Given the description of an element on the screen output the (x, y) to click on. 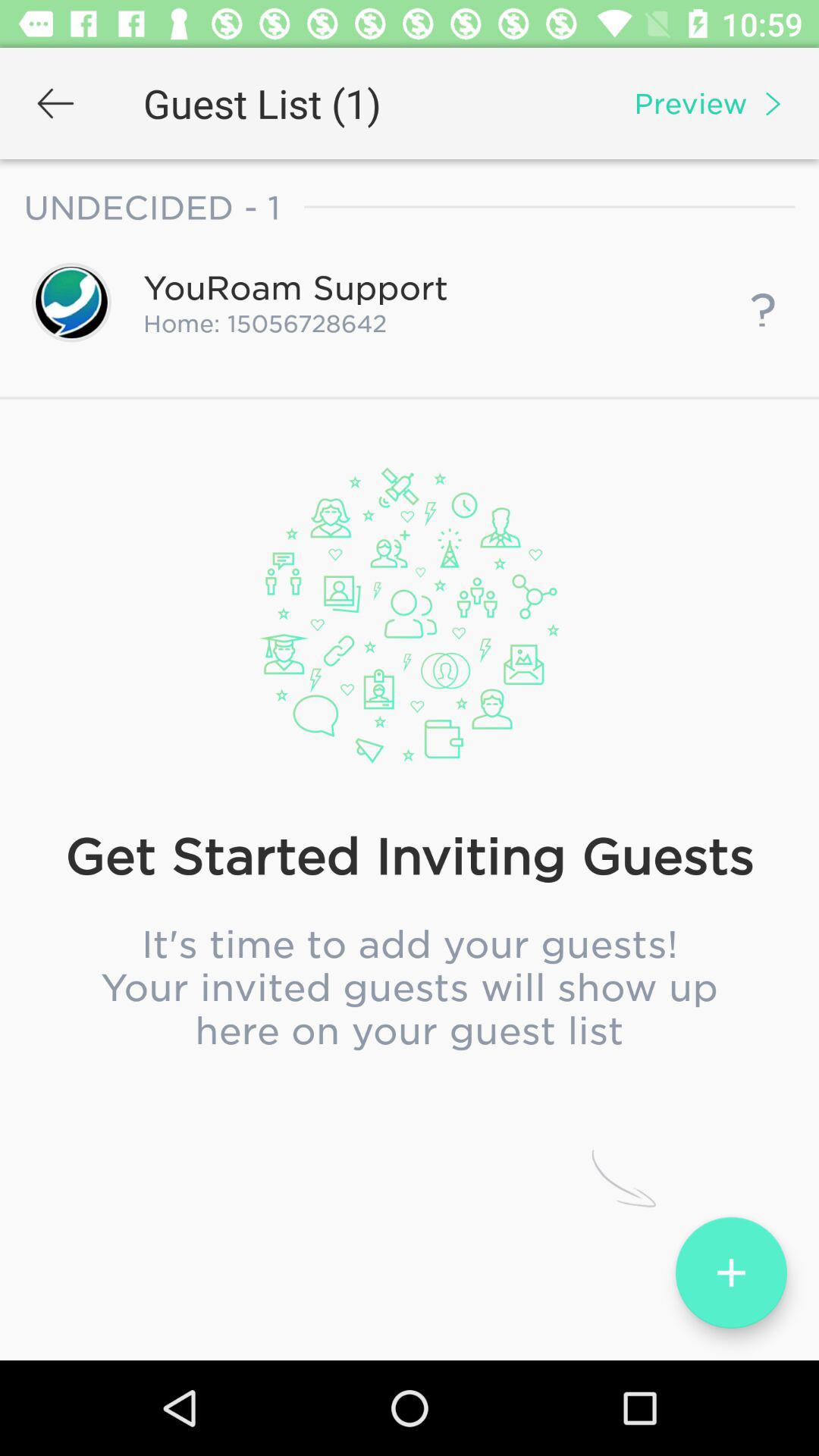
turn on the item to the right of the home: 15056728642 item (763, 302)
